Given the description of an element on the screen output the (x, y) to click on. 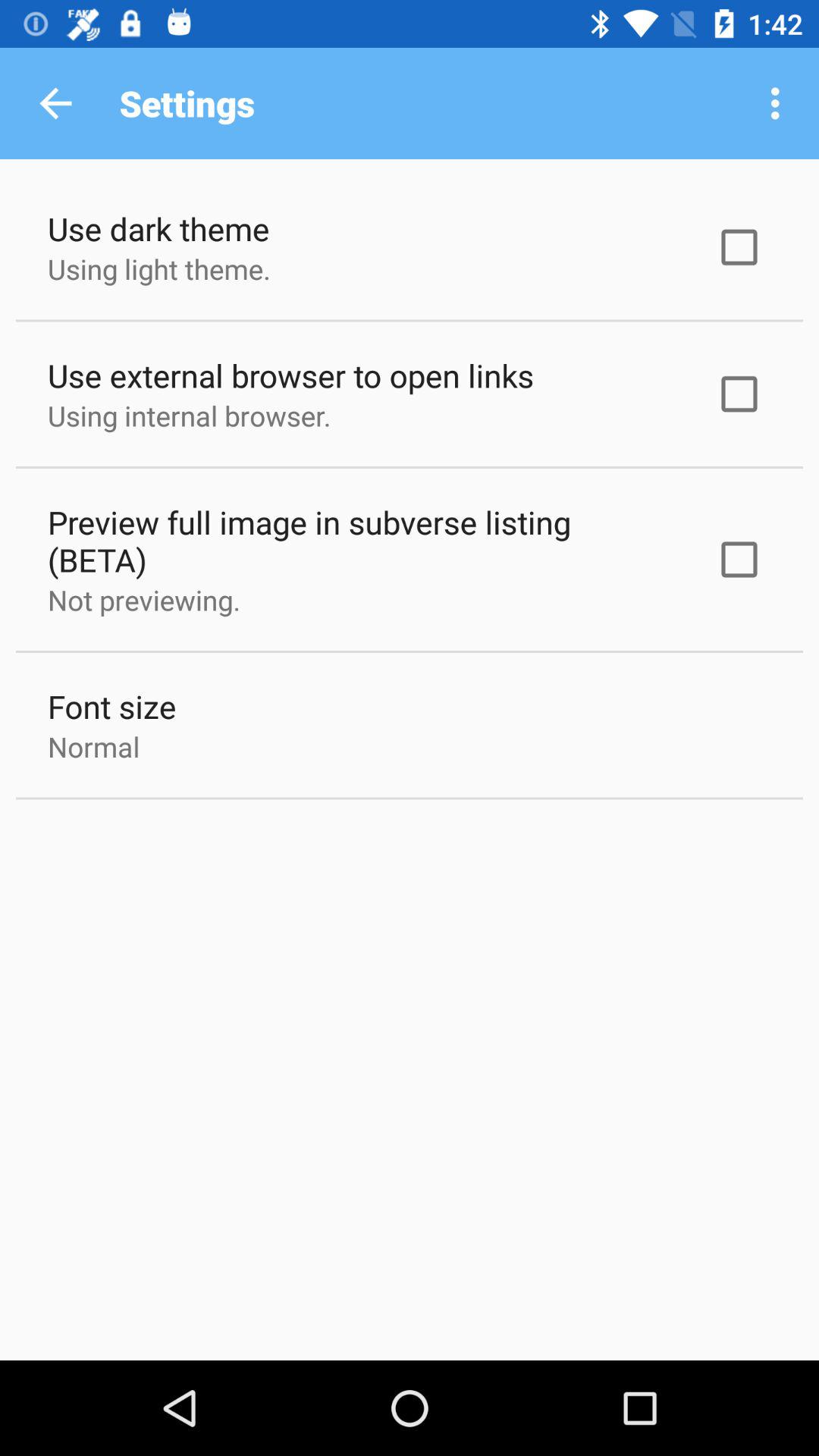
click using internal browser. item (189, 415)
